Given the description of an element on the screen output the (x, y) to click on. 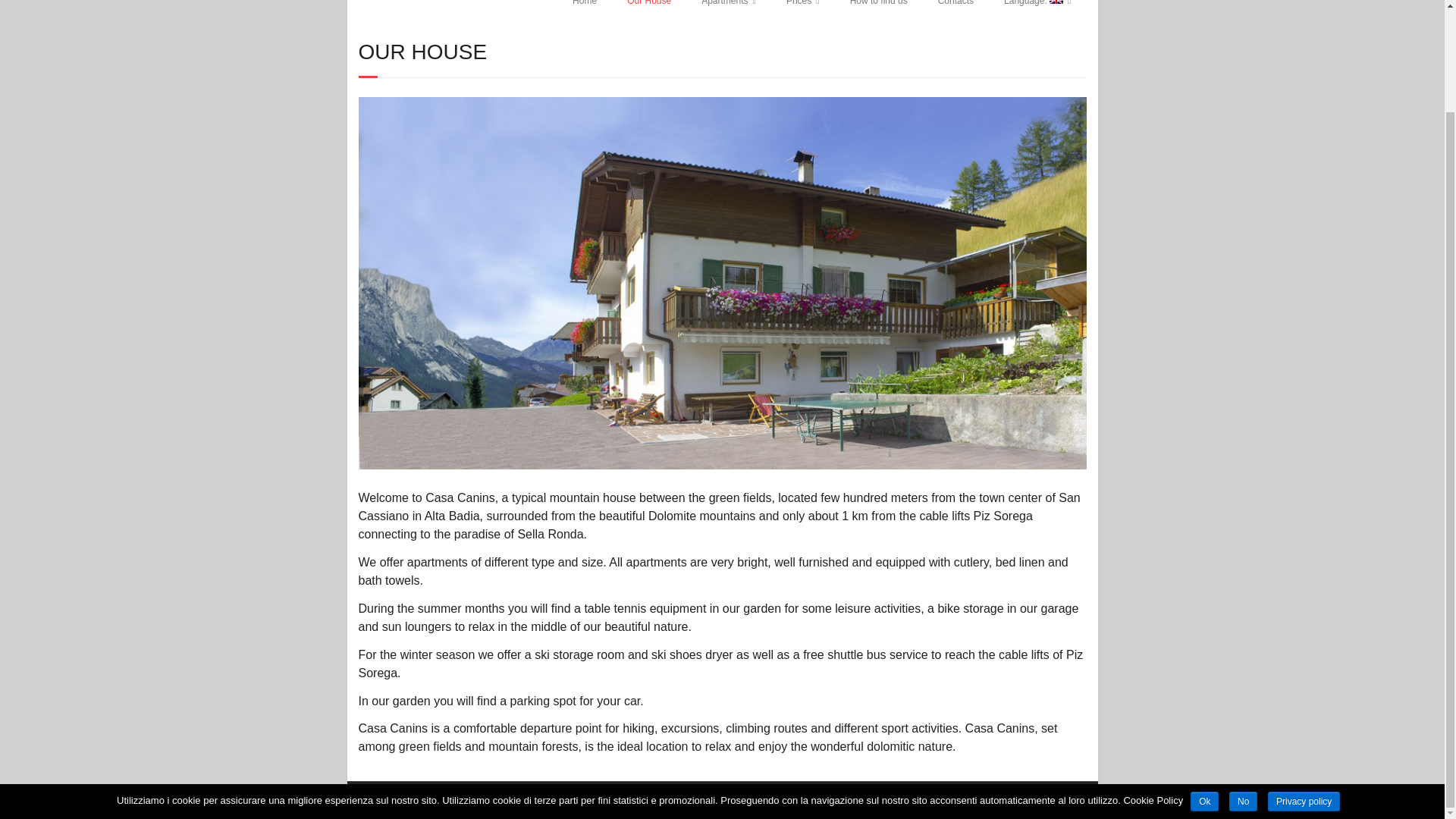
Prices (802, 13)
Think Up Themes Ltd (701, 799)
Home (584, 13)
Our House (722, 466)
Apartments (728, 13)
Language:  (1037, 13)
English (1037, 13)
How to find us (878, 13)
Contacts (955, 13)
Our House (648, 13)
